Given the description of an element on the screen output the (x, y) to click on. 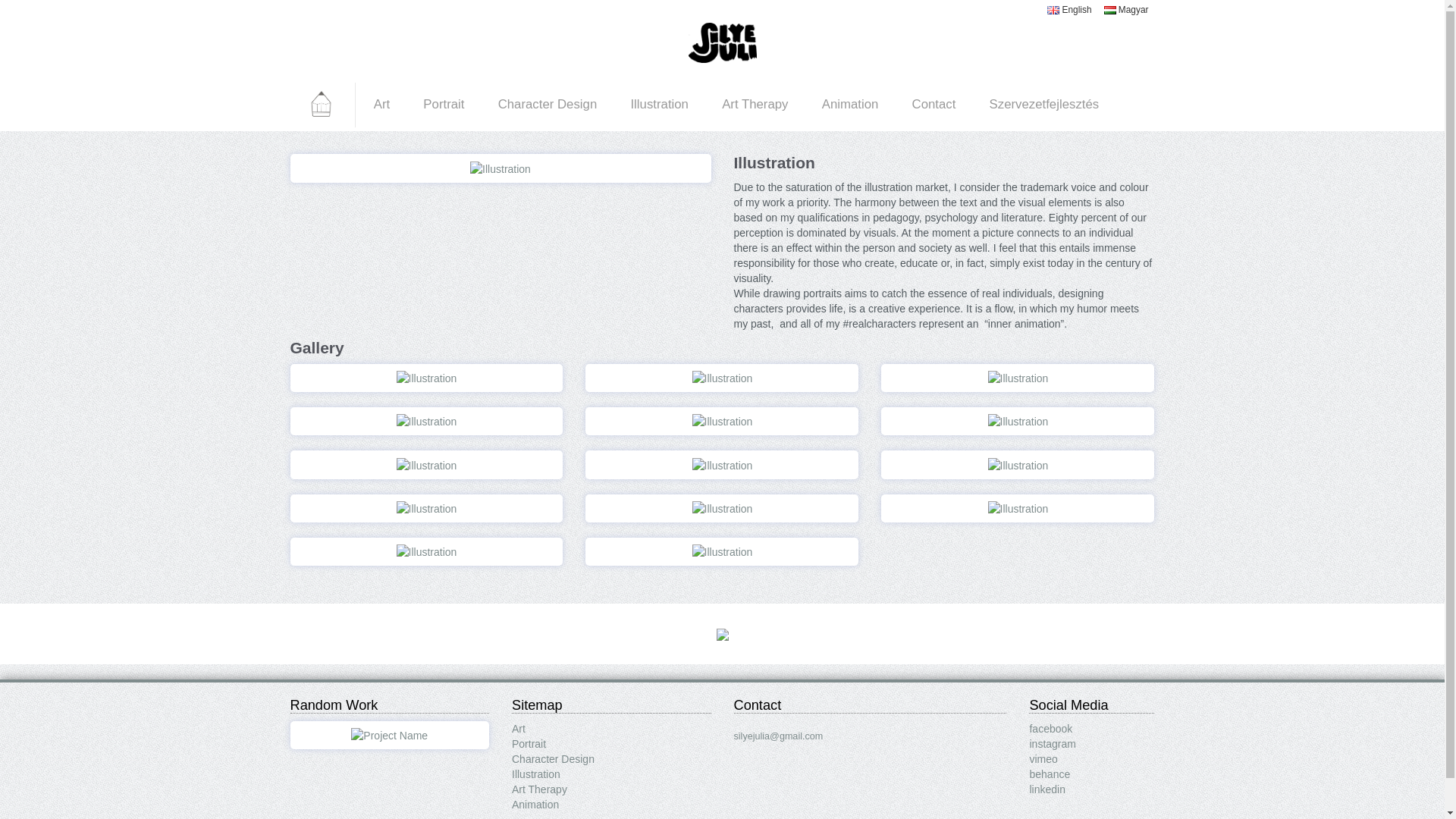
Portrait (443, 104)
Illustration (500, 167)
Character Design (546, 104)
Illustration (658, 104)
English (1068, 9)
Art (518, 728)
Contact me (722, 633)
Magyar (1125, 9)
Contact (722, 41)
Portrait (389, 734)
